Given the description of an element on the screen output the (x, y) to click on. 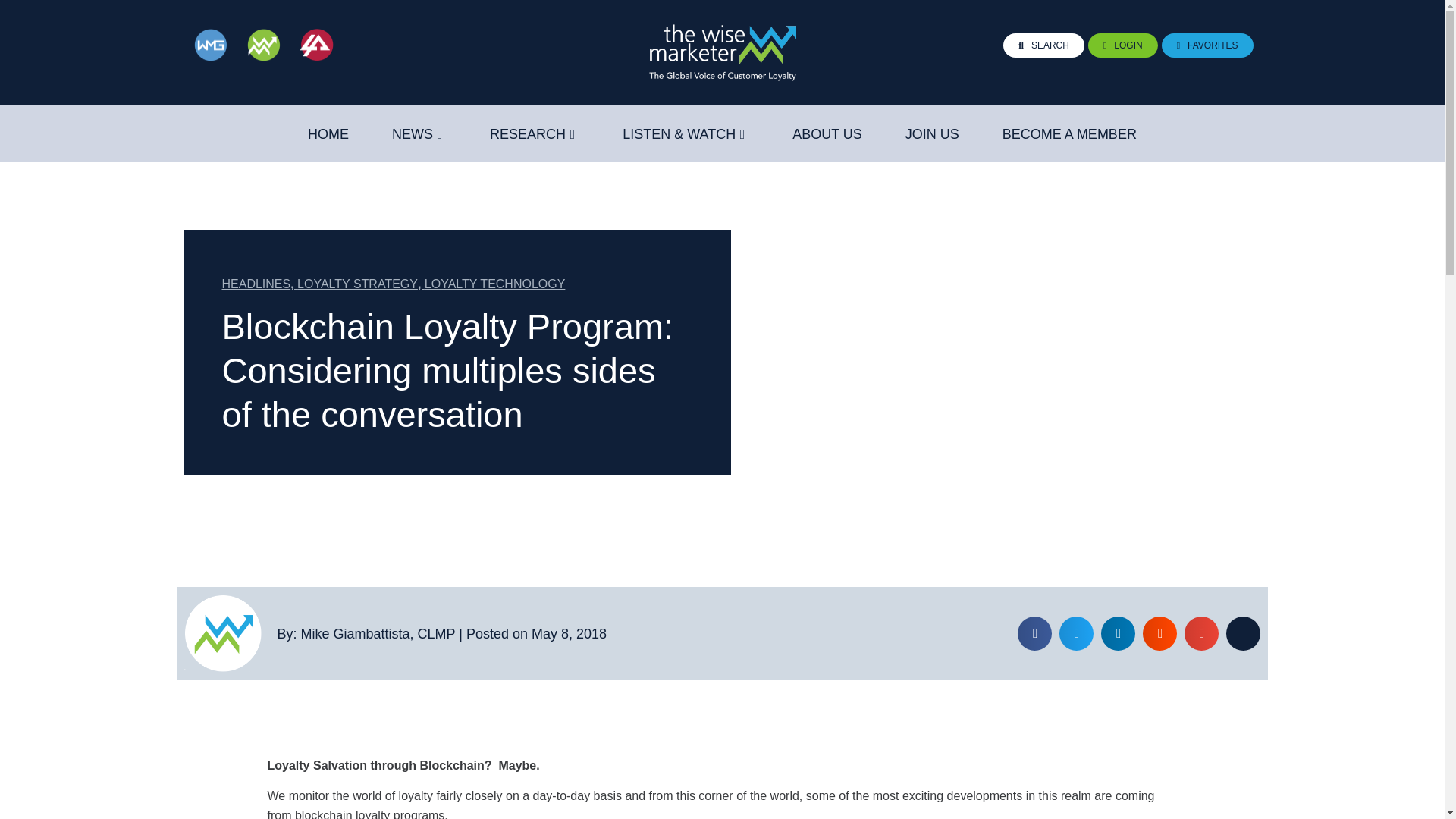
LOGIN (1122, 45)
FAVORITES (1207, 45)
ABOUT US (826, 134)
RESEARCH (527, 134)
HOME (328, 134)
WM Circle Logo (222, 633)
JOIN US (932, 134)
SEARCH (1043, 45)
BECOME A MEMBER (1070, 134)
NEWS (411, 134)
